Given the description of an element on the screen output the (x, y) to click on. 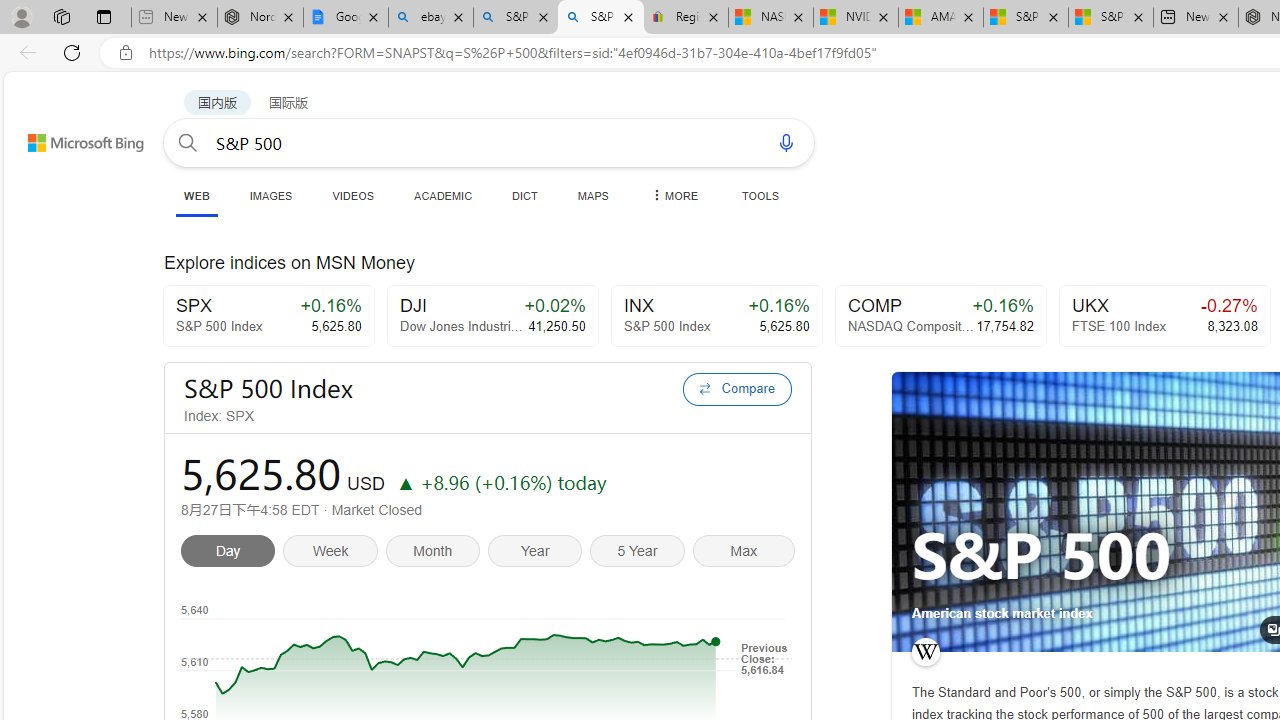
S&P 500 - Search (600, 17)
COMP +0.16% NASDAQ Composite Index 17,754.82 (940, 315)
S&P 500 Index (427, 388)
Google Docs: Online Document Editor | Google Workspace (345, 17)
S&P 500, Nasdaq end lower, weighed by Nvidia dip | Watch (1110, 17)
ebay - Search (431, 17)
WEB (196, 196)
WEB (196, 195)
TOOLS (760, 195)
